Given the description of an element on the screen output the (x, y) to click on. 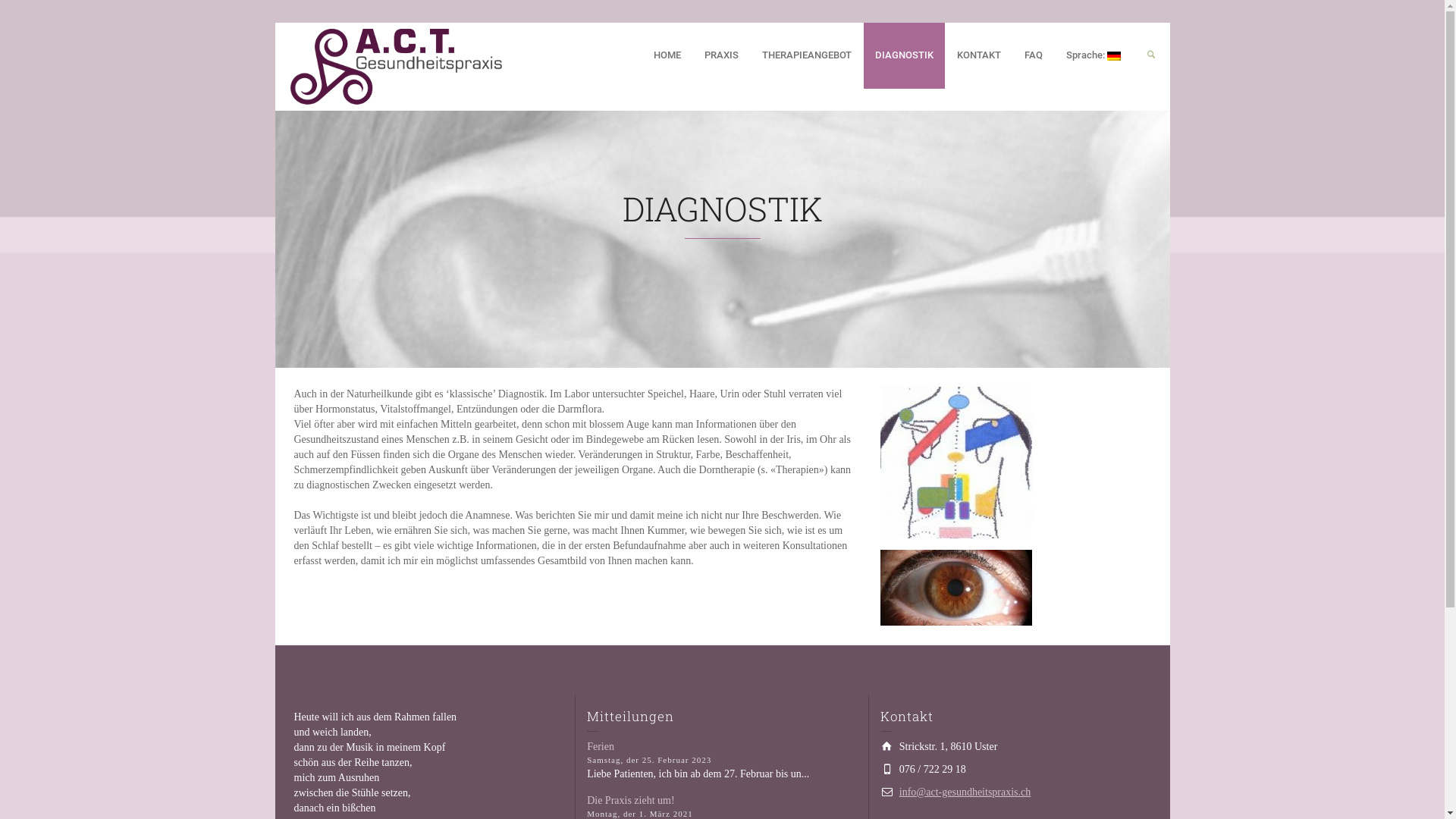
PRAXIS Element type: text (721, 55)
Die Praxis zieht um! Element type: text (630, 800)
FAQ Element type: text (1033, 55)
auge Element type: hover (956, 587)
A.C.T. Gesundheitspraxis Element type: hover (395, 65)
KONTAKT Element type: text (979, 55)
Search Element type: hover (1150, 55)
Ferien Element type: text (600, 746)
DIAGNOSTIK Element type: text (904, 55)
Sprache:  Element type: text (1093, 55)
HOME Element type: text (667, 55)
info@act-gesundheitspraxis.ch Element type: text (964, 791)
THERAPIEANGEBOT Element type: text (806, 55)
